Given the description of an element on the screen output the (x, y) to click on. 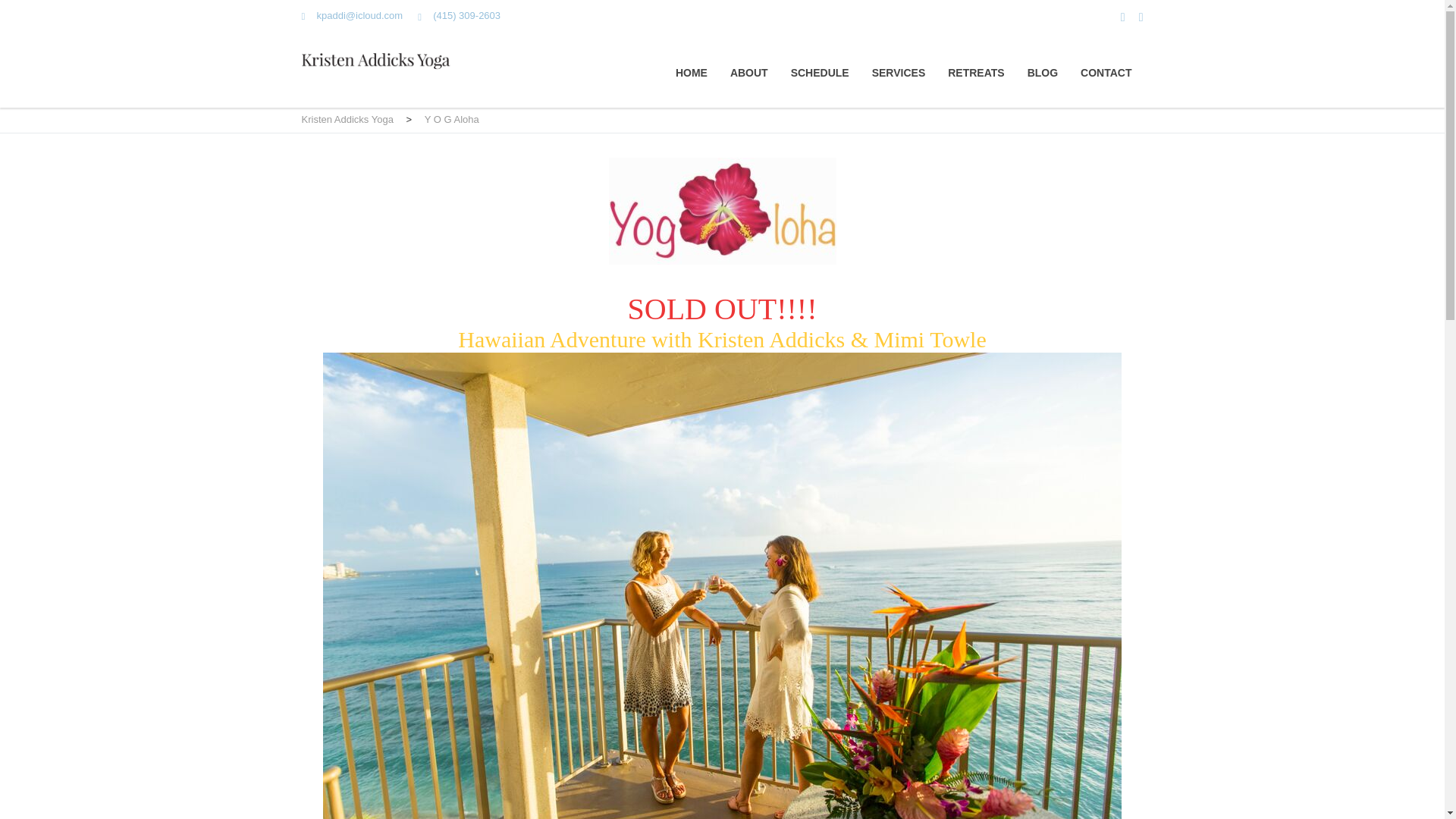
Go to Kristen Addicks Yoga. (347, 119)
SERVICES (899, 72)
RETREATS (975, 72)
ABOUT (749, 72)
SCHEDULE (819, 72)
CONTACT (1105, 72)
BLOG (1042, 72)
HOME (691, 72)
Kristen Addicks Yoga (347, 119)
